Given the description of an element on the screen output the (x, y) to click on. 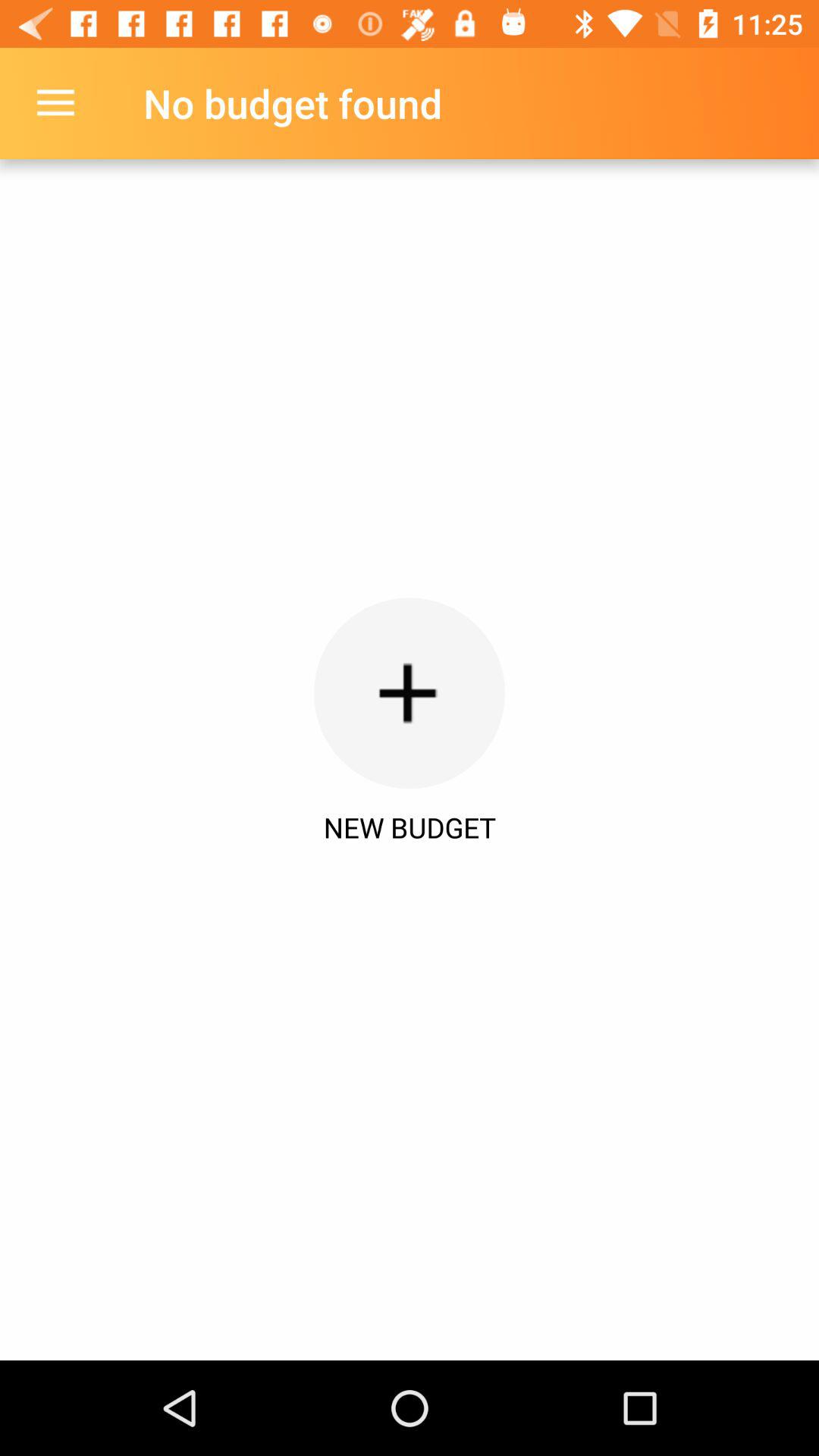
turn on icon to the left of no budget found icon (55, 103)
